Given the description of an element on the screen output the (x, y) to click on. 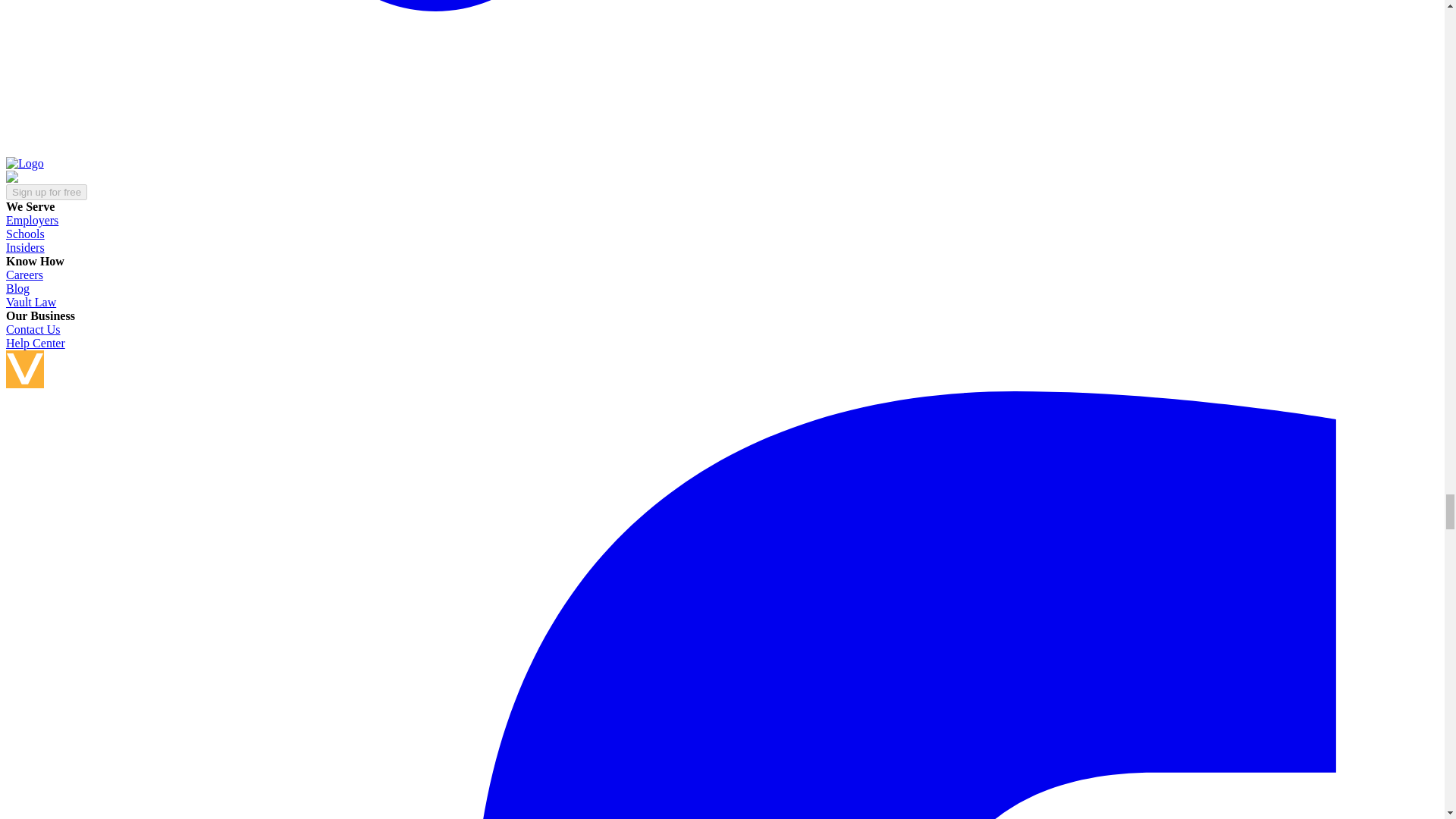
Insiders (25, 246)
Employers (31, 219)
Help Center (35, 342)
Schools (25, 233)
Blog (17, 287)
Sign up for free (46, 191)
Contact Us (33, 328)
Sign up for free (46, 191)
Vault Law (30, 301)
Careers (24, 274)
